Given the description of an element on the screen output the (x, y) to click on. 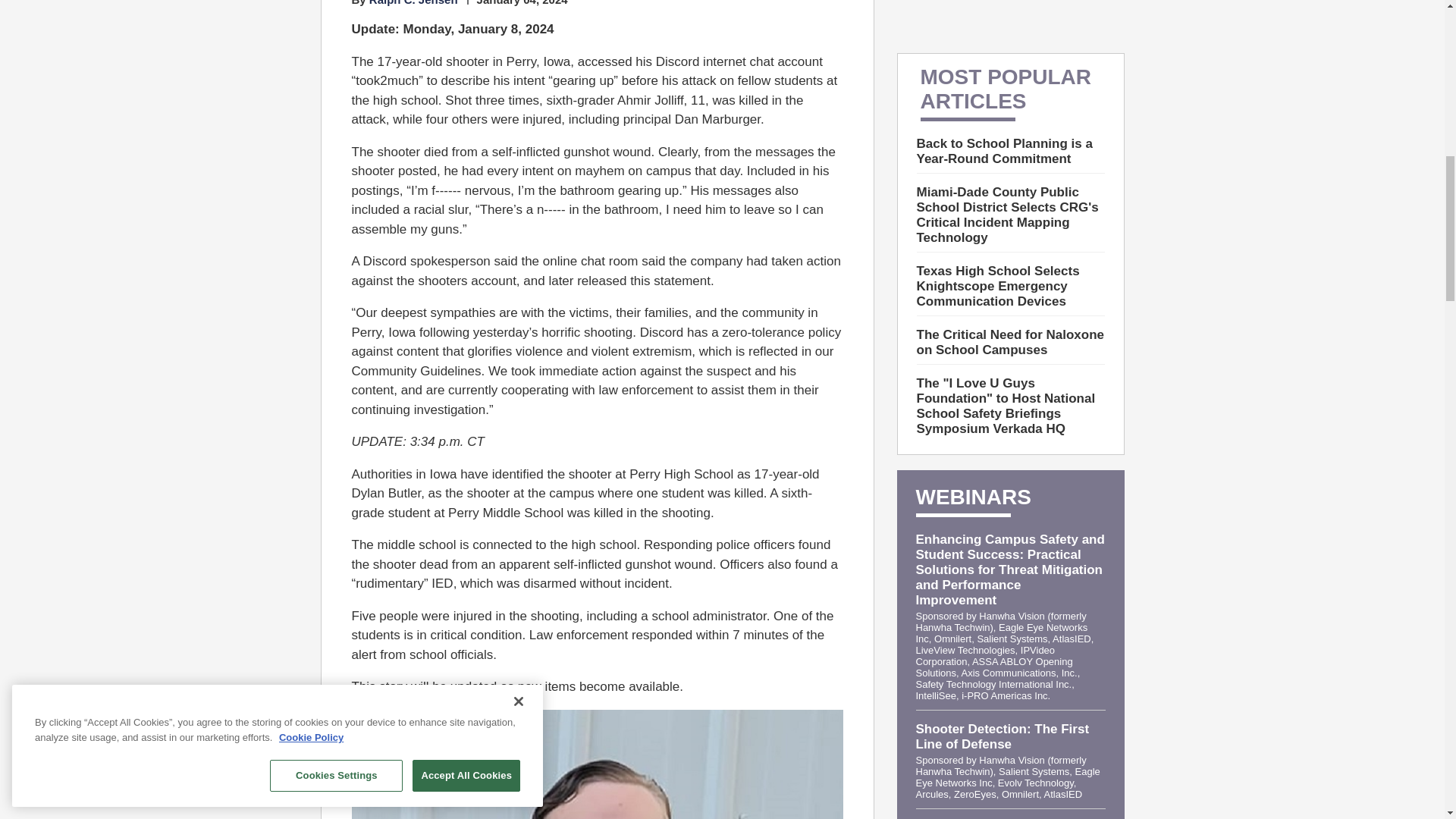
3rd party ad content (1010, 18)
Ralph C. Jensen (413, 2)
